Given the description of an element on the screen output the (x, y) to click on. 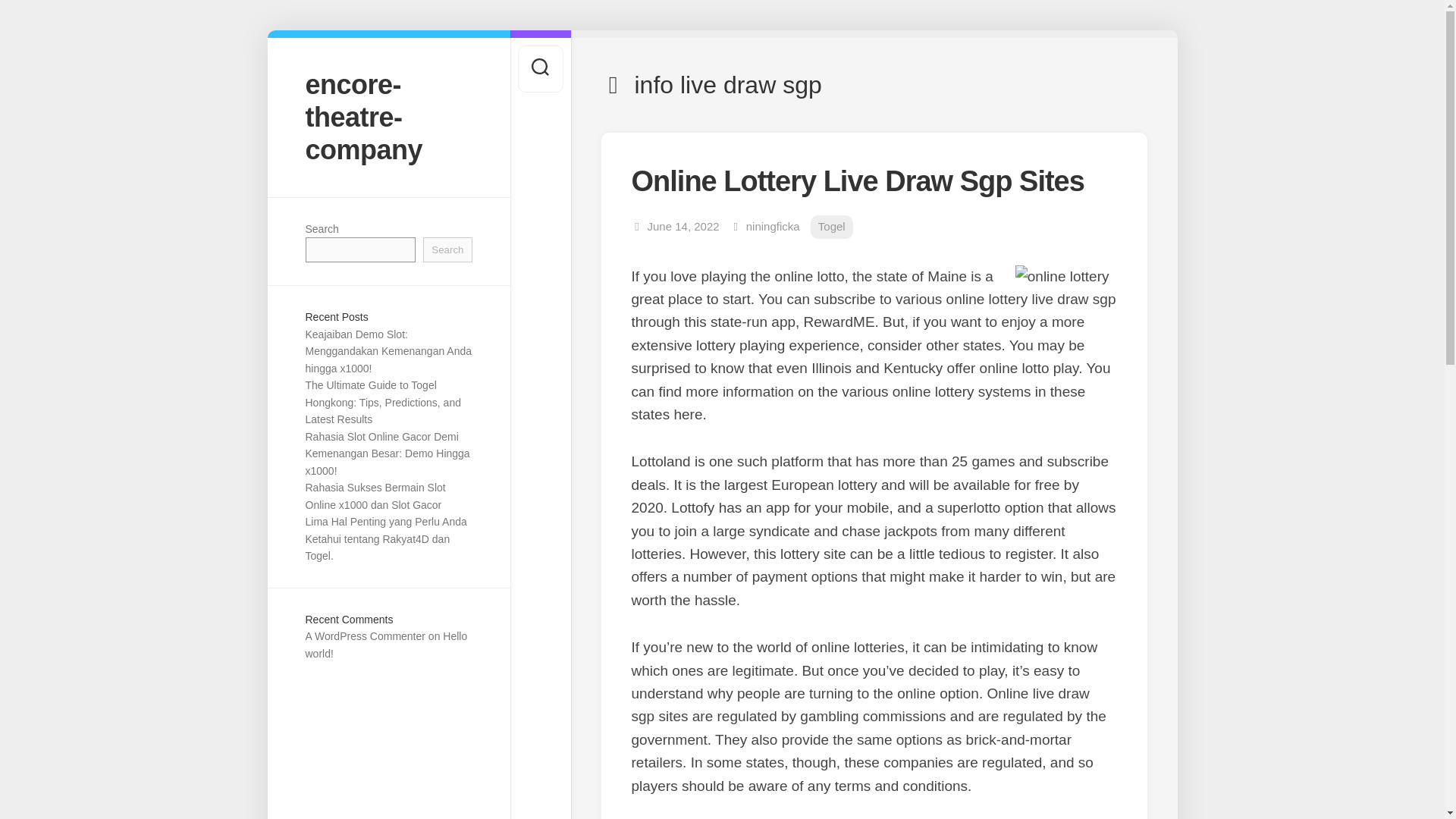
niningficka (772, 226)
Search (447, 249)
Hello world! (385, 644)
encore-theatre-company (387, 117)
A WordPress Commenter (364, 635)
Togel (831, 227)
Rahasia Sukses Bermain Slot Online x1000 dan Slot Gacor (374, 496)
Online Lottery Live Draw Sgp Sites (856, 181)
Posts by niningficka (772, 226)
